Given the description of an element on the screen output the (x, y) to click on. 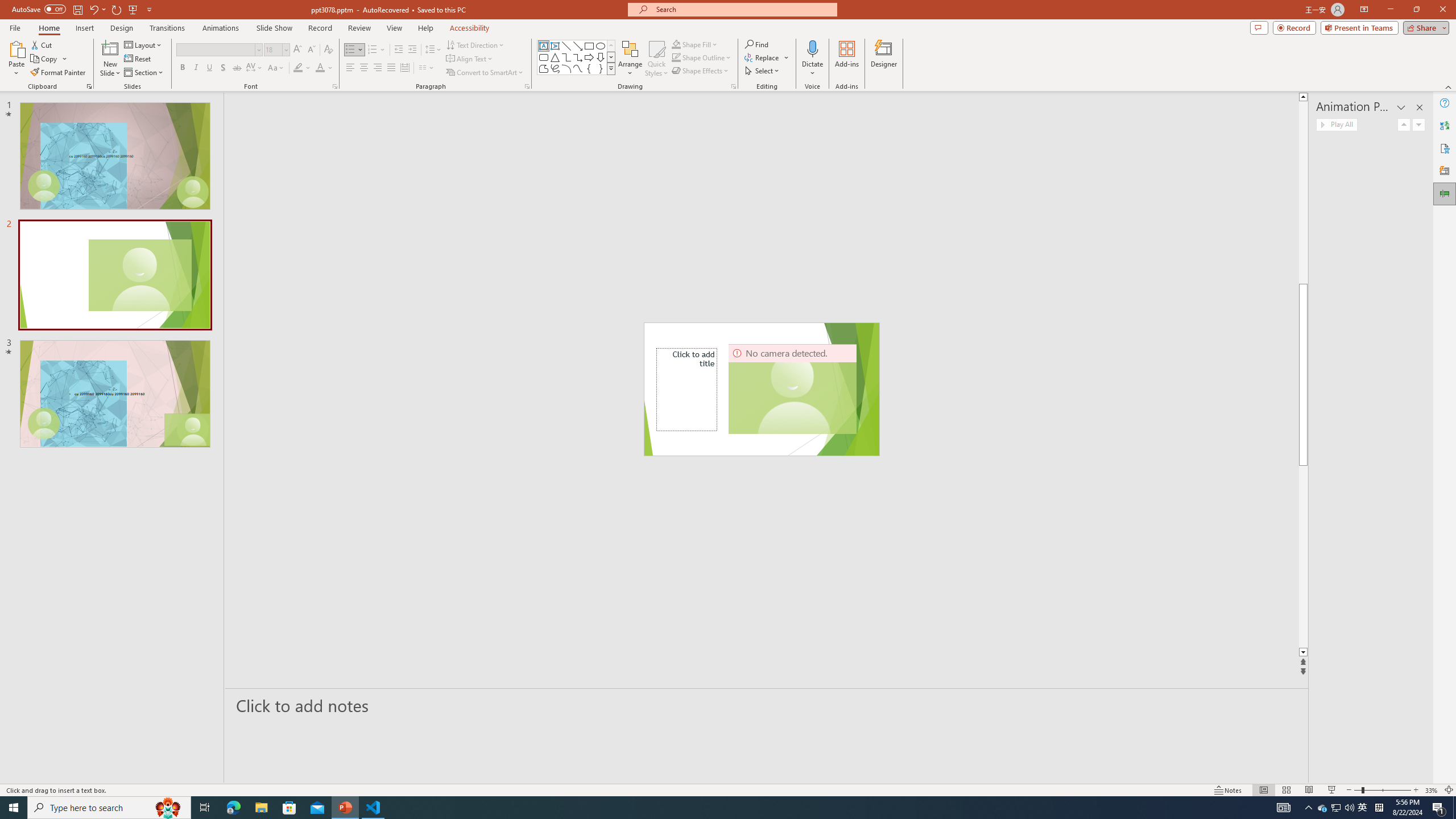
Move Down (1418, 124)
Camera 3, No camera detected. (792, 388)
